Given the description of an element on the screen output the (x, y) to click on. 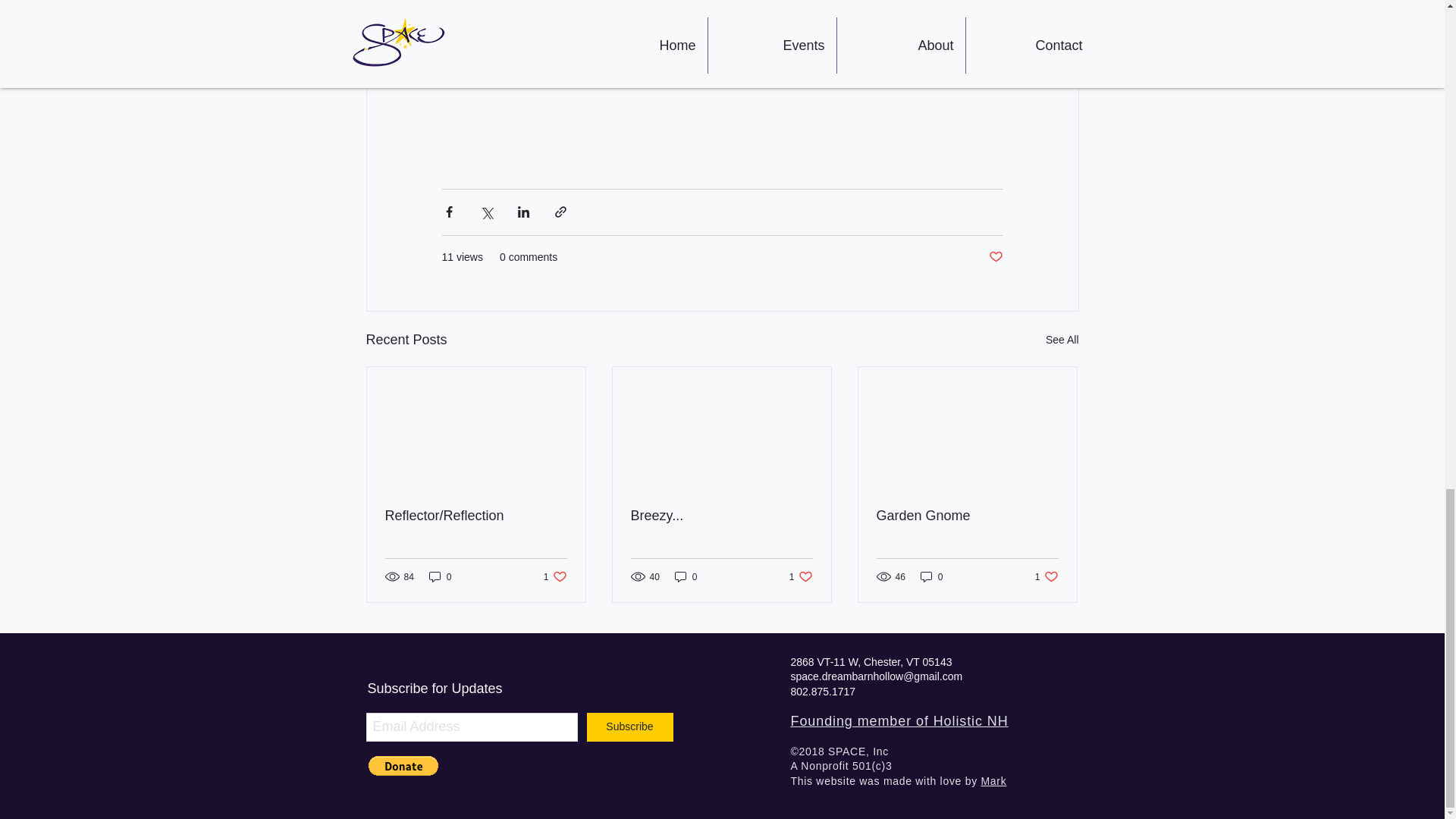
Founding member of Holistic NH (898, 720)
See All (1061, 340)
Subscribe (1046, 576)
Mark (629, 727)
Breezy... (992, 780)
Post not marked as liked (721, 515)
0 (995, 257)
0 (440, 576)
Garden Gnome (685, 576)
0 (967, 515)
